Given the description of an element on the screen output the (x, y) to click on. 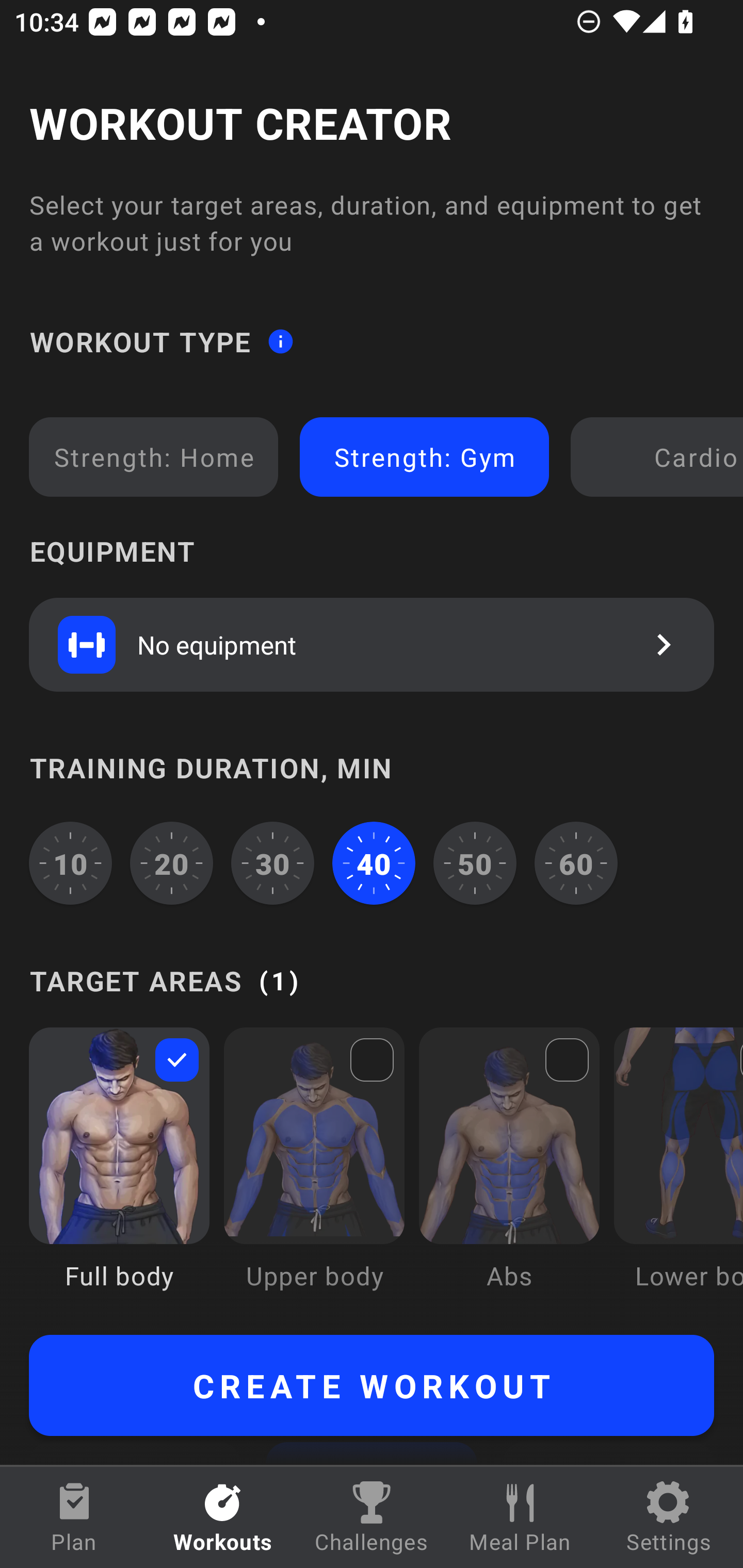
Workout type information button (280, 340)
Strength: Home (153, 457)
Cardio (660, 457)
No equipment (371, 644)
10 (70, 863)
20 (171, 863)
30 (272, 863)
40 (373, 863)
50 (474, 863)
60 (575, 863)
Upper body (313, 1172)
Abs (509, 1172)
Lower body (678, 1172)
CREATE WORKOUT (371, 1385)
 Plan  (74, 1517)
 Challenges  (371, 1517)
 Meal Plan  (519, 1517)
 Settings  (668, 1517)
